Given the description of an element on the screen output the (x, y) to click on. 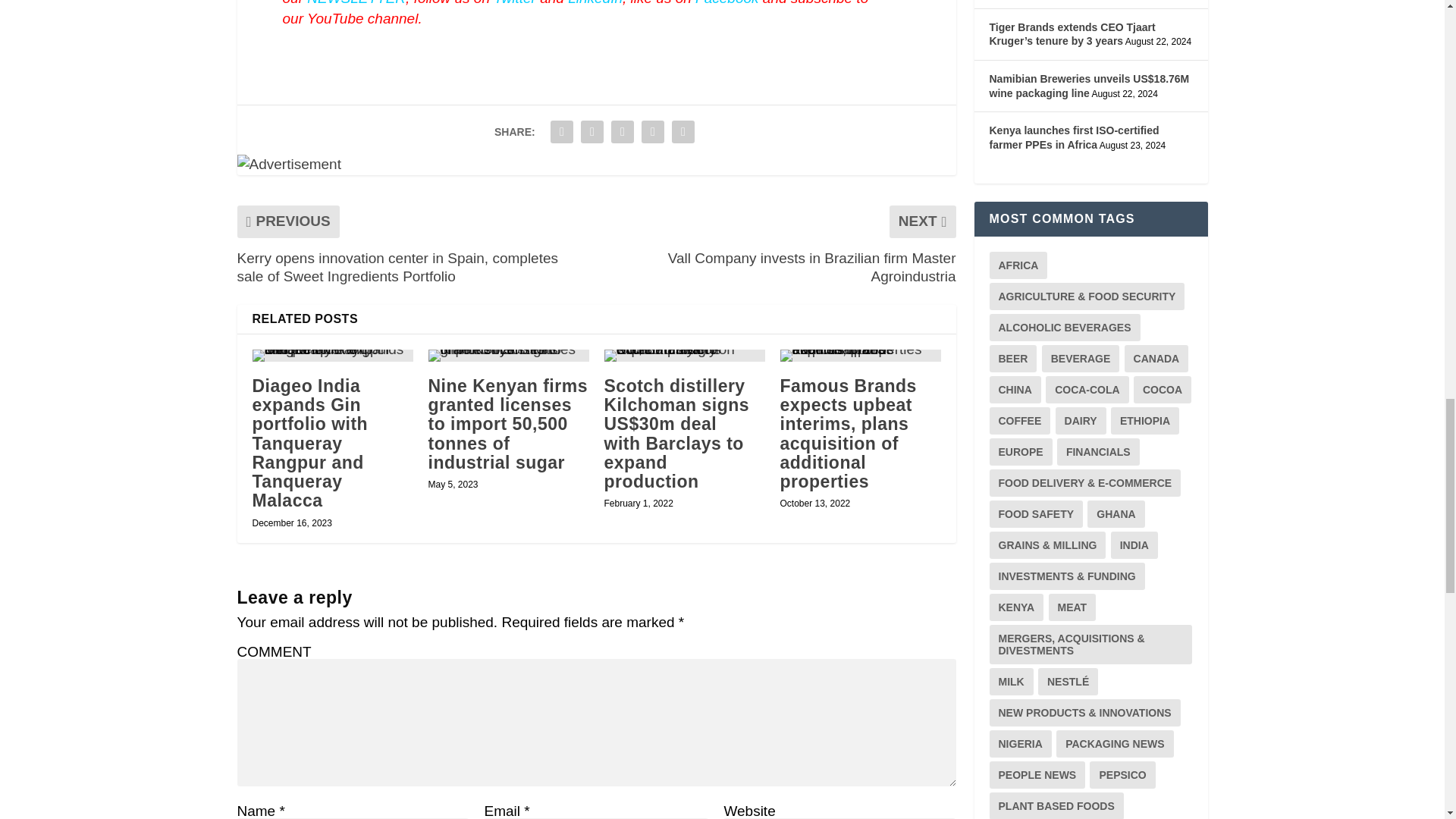
Facebook (726, 2)
NEWSLETTER (356, 2)
Twitter (514, 2)
LinkedIn (595, 2)
